Given the description of an element on the screen output the (x, y) to click on. 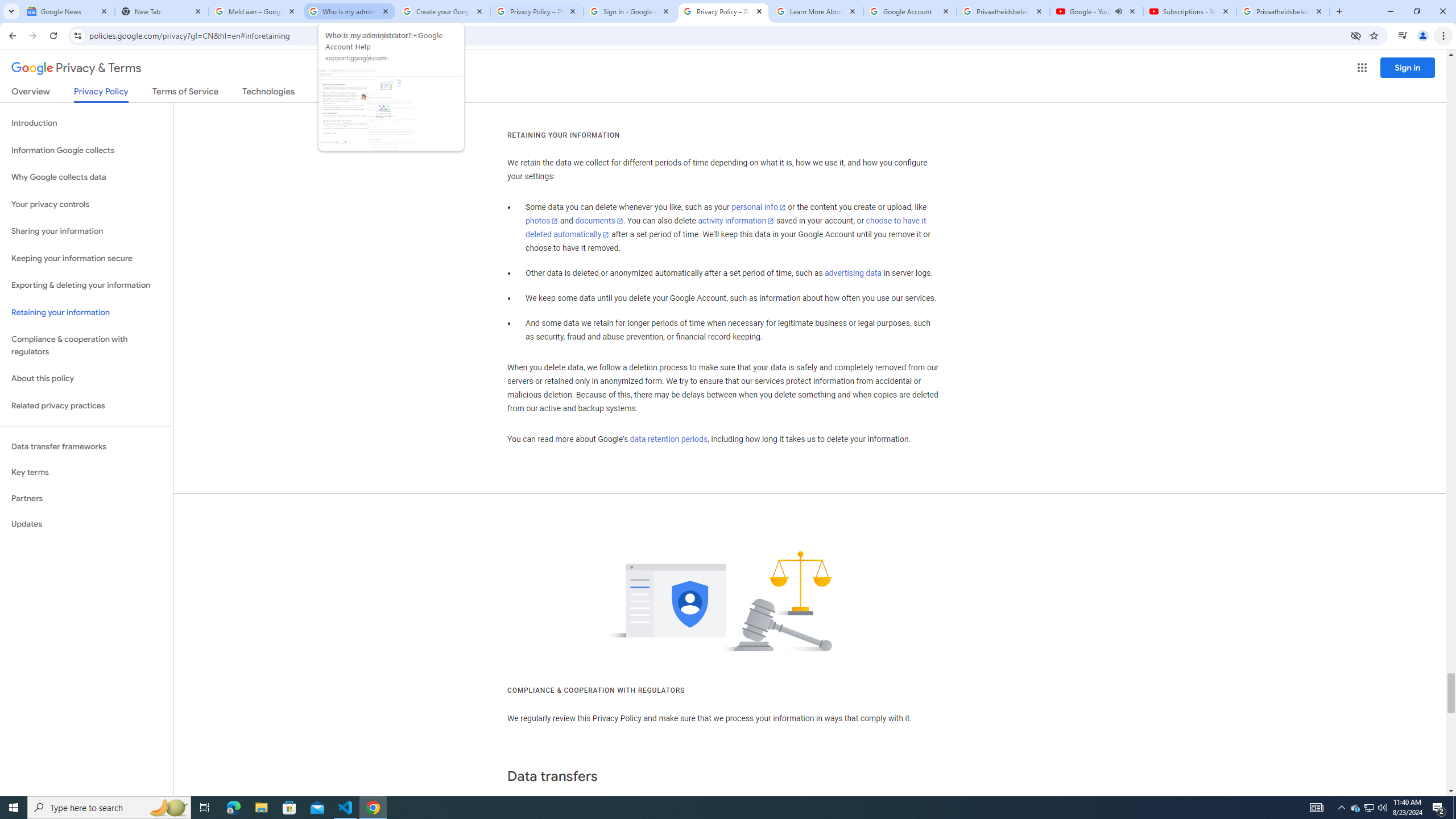
Google - YouTube - Audio playing (1096, 11)
New Tab (161, 11)
